Given the description of an element on the screen output the (x, y) to click on. 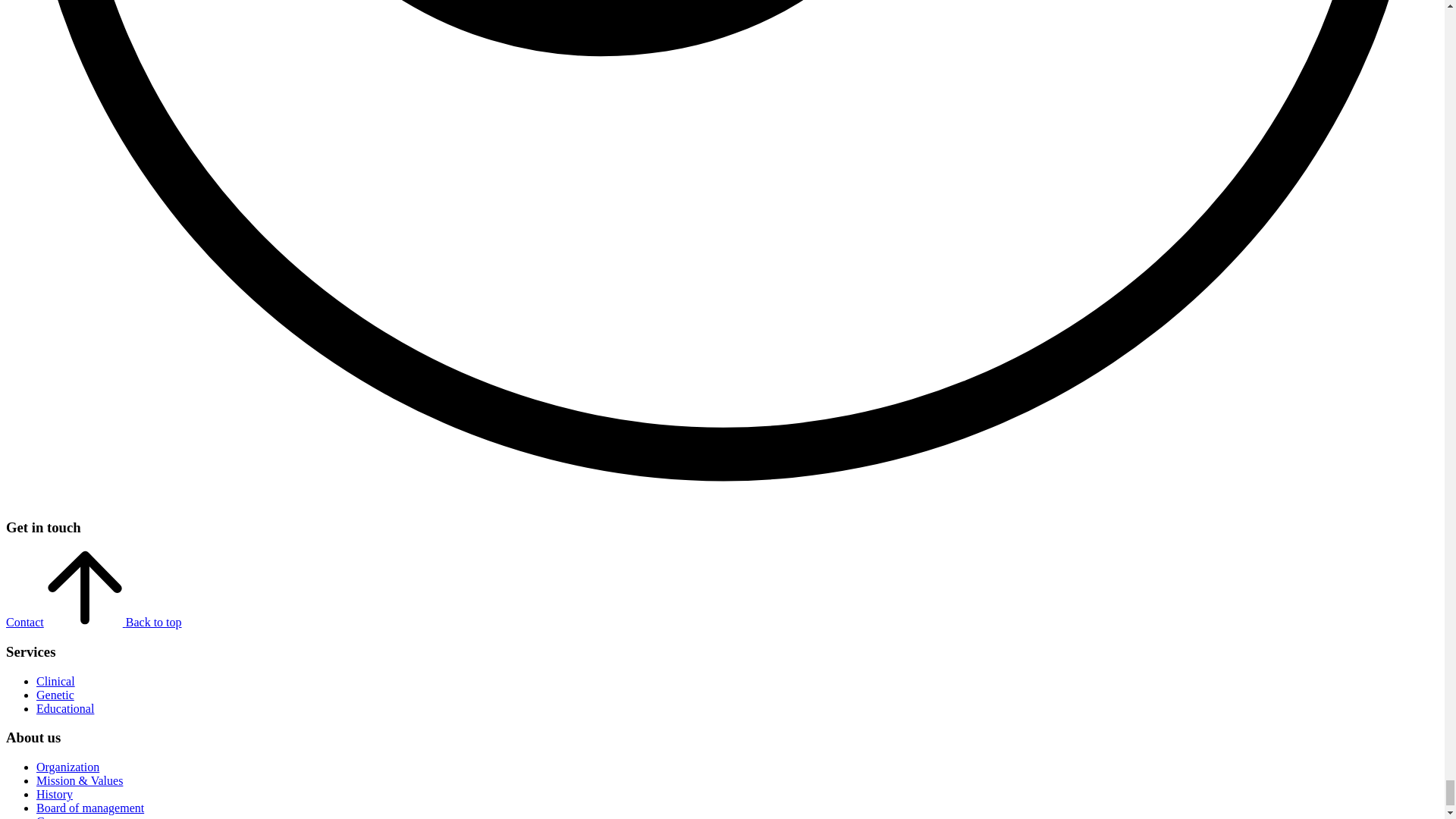
Contact (24, 621)
Board of management (90, 807)
Genetic (55, 694)
Careers (55, 816)
backtotop (84, 588)
Organization (67, 766)
Educational (65, 707)
History (54, 793)
Clinical (55, 680)
backtotop Back to top (114, 621)
backtotop Back to top (114, 621)
